Given the description of an element on the screen output the (x, y) to click on. 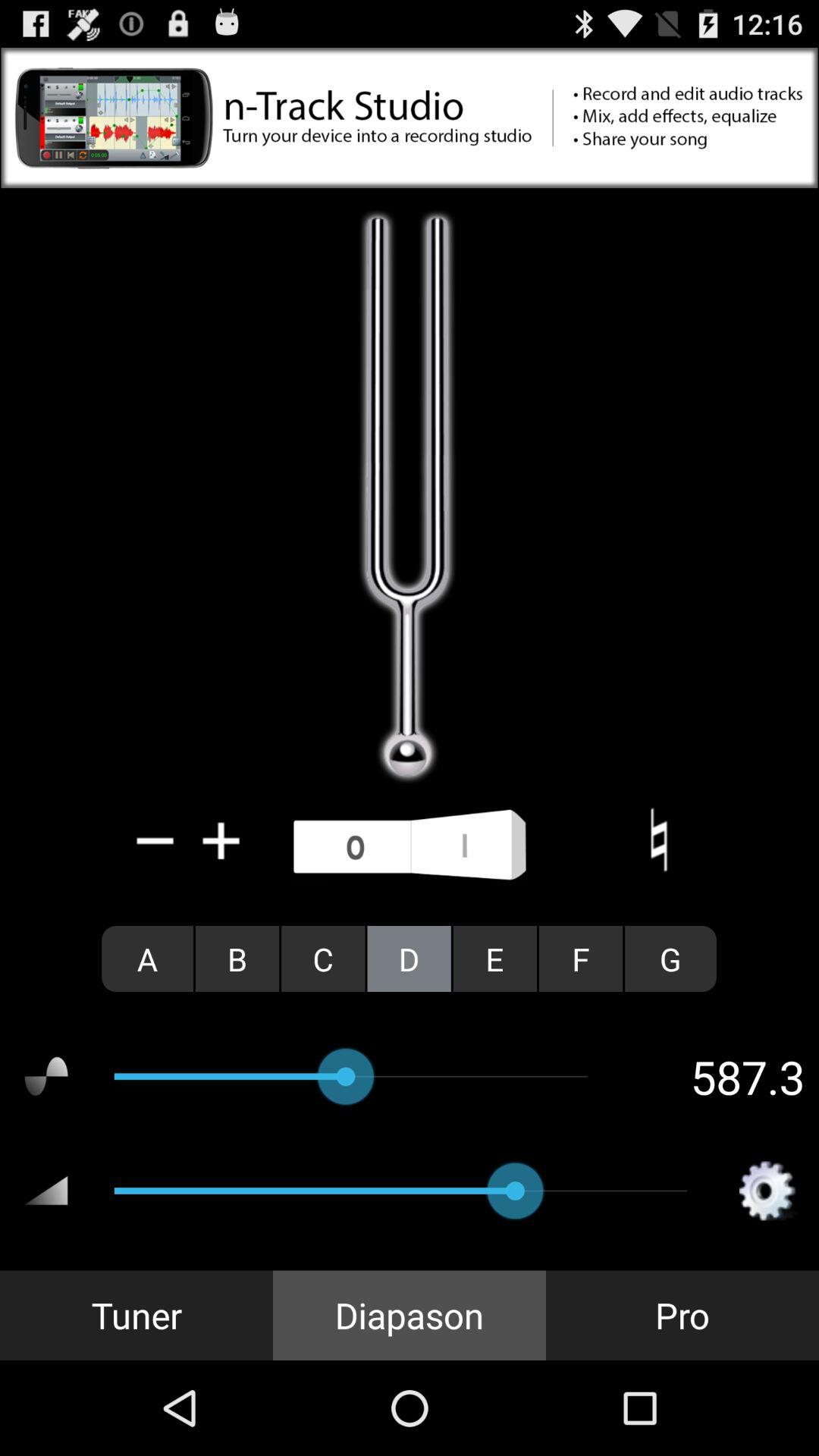
toggle between flat and sharp (658, 840)
